Given the description of an element on the screen output the (x, y) to click on. 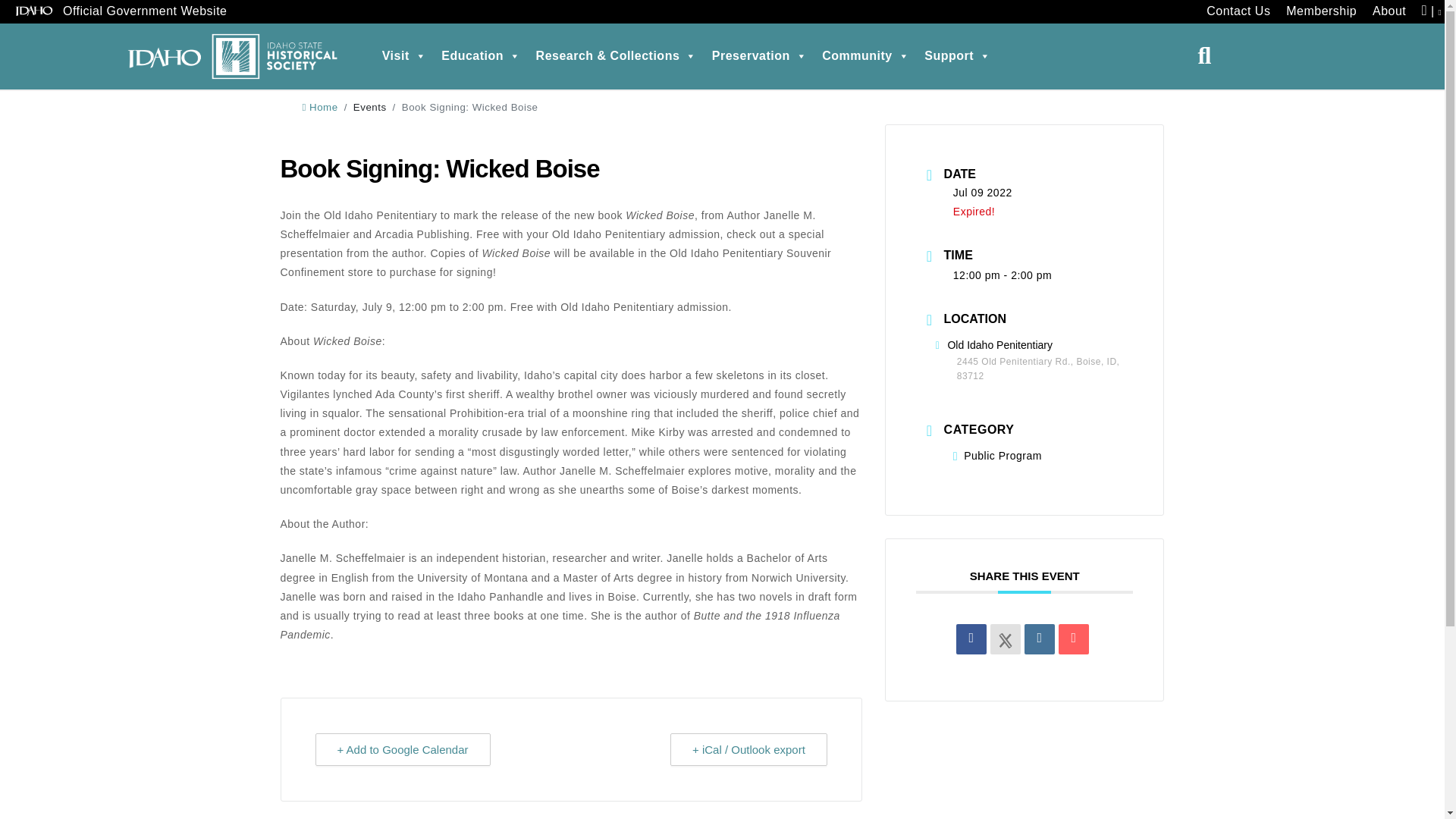
X Social Network (1005, 639)
Linkedin (1039, 639)
Preservation (758, 55)
About (1389, 12)
Share on Facebook (971, 639)
home (319, 107)
Membership (1321, 12)
Email (1073, 639)
Contact Us (1238, 12)
Visit (403, 55)
